Given the description of an element on the screen output the (x, y) to click on. 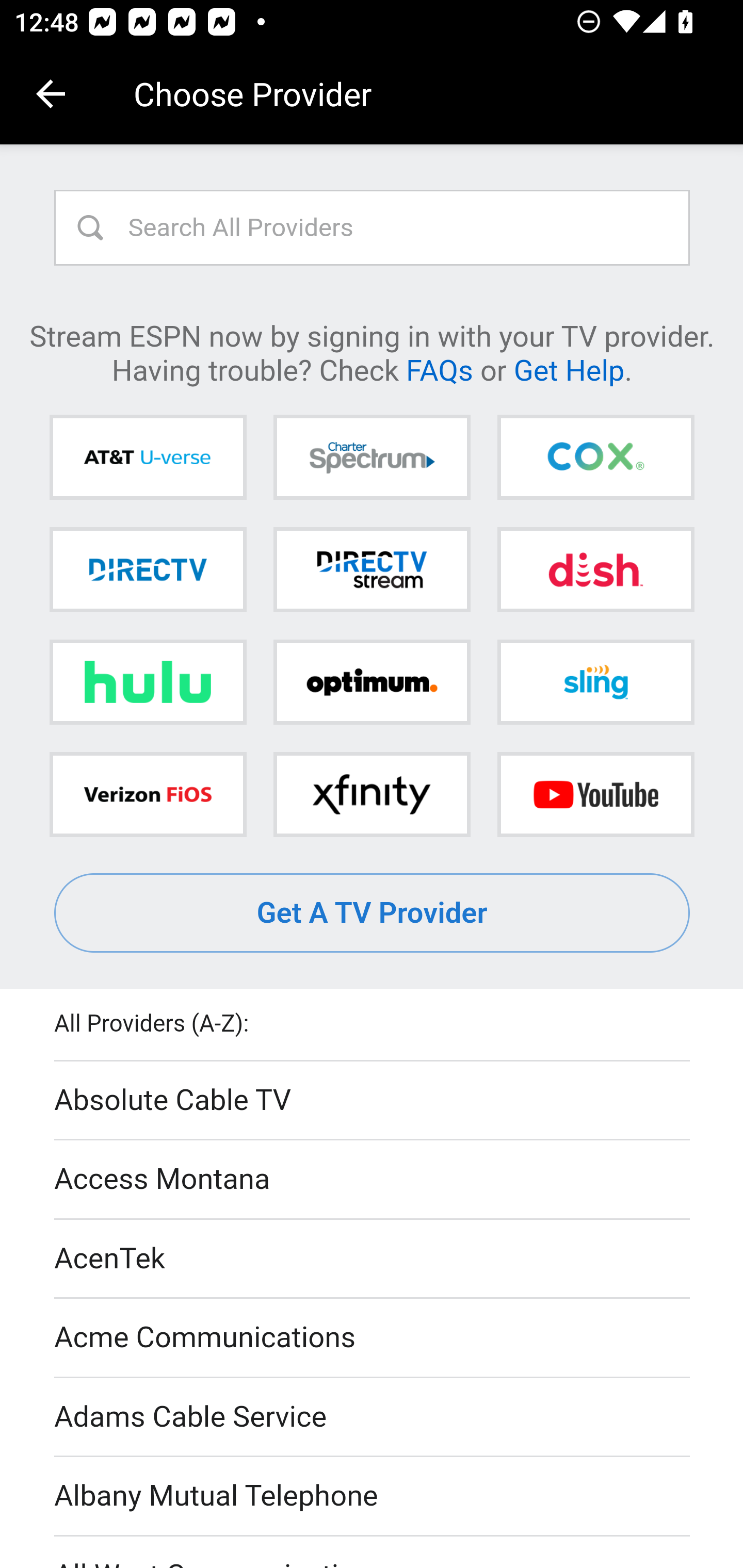
Navigate up (50, 93)
FAQs (438, 369)
Get Help (569, 369)
AT&T U-verse (147, 457)
Charter Spectrum (371, 457)
Cox (595, 457)
DIRECTV (147, 568)
DIRECTV STREAM (371, 568)
DISH (595, 568)
Hulu (147, 681)
Optimum (371, 681)
Sling TV (595, 681)
Verizon FiOS (147, 793)
Xfinity (371, 793)
YouTube TV (595, 793)
Get A TV Provider (372, 912)
Absolute Cable TV (372, 1100)
Access Montana (372, 1178)
AcenTek (372, 1258)
Acme Communications (372, 1338)
Adams Cable Service (372, 1417)
Albany Mutual Telephone (372, 1497)
